Given the description of an element on the screen output the (x, y) to click on. 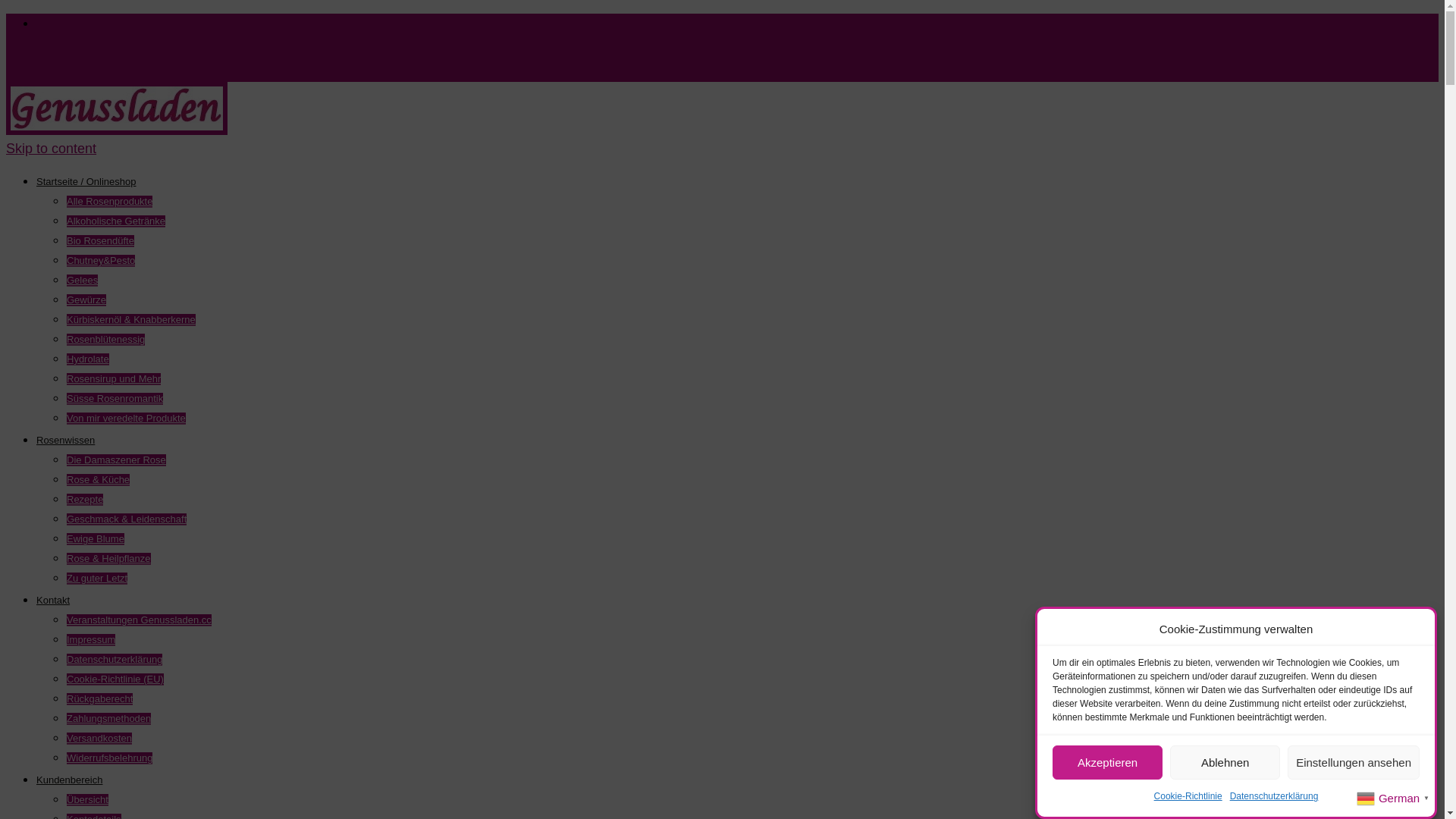
Akzeptieren Element type: text (1107, 762)
Alle Rosenprodukte Element type: text (109, 201)
Ewige Blume Element type: text (95, 539)
Startseite / Onlineshop Element type: text (86, 181)
Skip to content Element type: text (51, 148)
Von mir veredelte Produkte Element type: text (125, 418)
Ablehnen Element type: text (1225, 762)
Einstellungen ansehen Element type: text (1353, 762)
Geschmack & Leidenschaft Element type: text (126, 519)
Rose & Heilpflanze Element type: text (108, 558)
Kontakt Element type: text (52, 599)
Gelees Element type: text (81, 280)
stelzl-ulrike@gmx.at Element type: text (67, 72)
Hydrolate Element type: text (87, 359)
Veranstaltungen Genussladen.cc Element type: text (138, 620)
0664 / 22 31 379 Element type: text (57, 54)
Chutney&Pesto Element type: text (100, 260)
Cookie-Richtlinie Element type: text (1188, 796)
Impressum Element type: text (90, 639)
Widerrufsbelehrung Element type: text (109, 758)
Zahlungsmethoden Element type: text (108, 718)
Kundenbereich Element type: text (69, 779)
Versandkosten Element type: text (98, 738)
Die Damaszener Rose Element type: text (116, 460)
Cookie-Richtlinie (EU) Element type: text (114, 679)
Rezepte Element type: text (84, 499)
Rosensirup und Mehr Element type: text (113, 379)
Rosenwissen Element type: text (65, 439)
Zu guter Letzt Element type: text (96, 578)
